Given the description of an element on the screen output the (x, y) to click on. 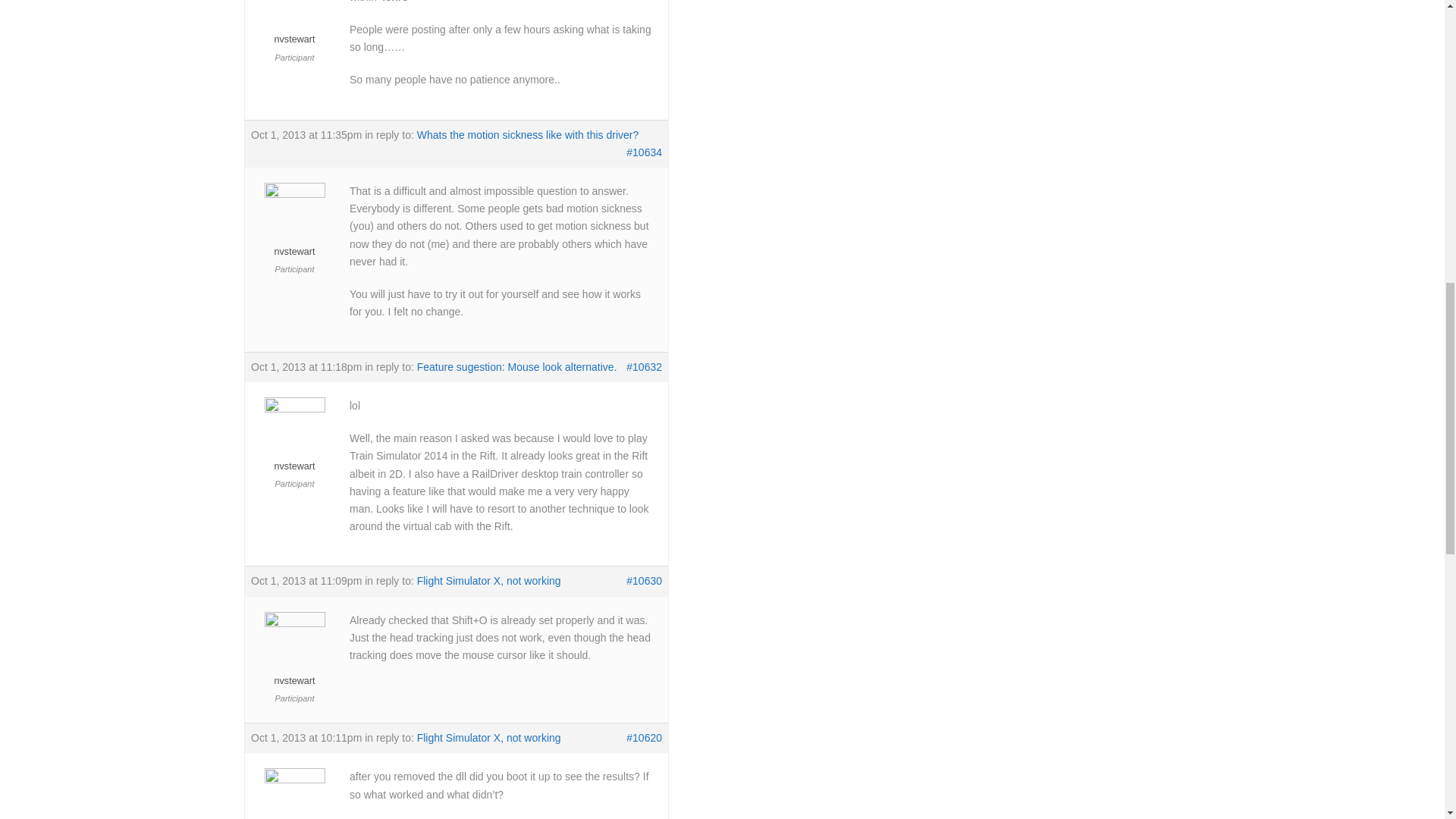
View nvstewart's profile (293, 654)
nvstewart (293, 24)
View nvstewart's profile (293, 439)
View nvstewart's profile (293, 796)
View nvstewart's profile (293, 225)
View nvstewart's profile (293, 24)
